Given the description of an element on the screen output the (x, y) to click on. 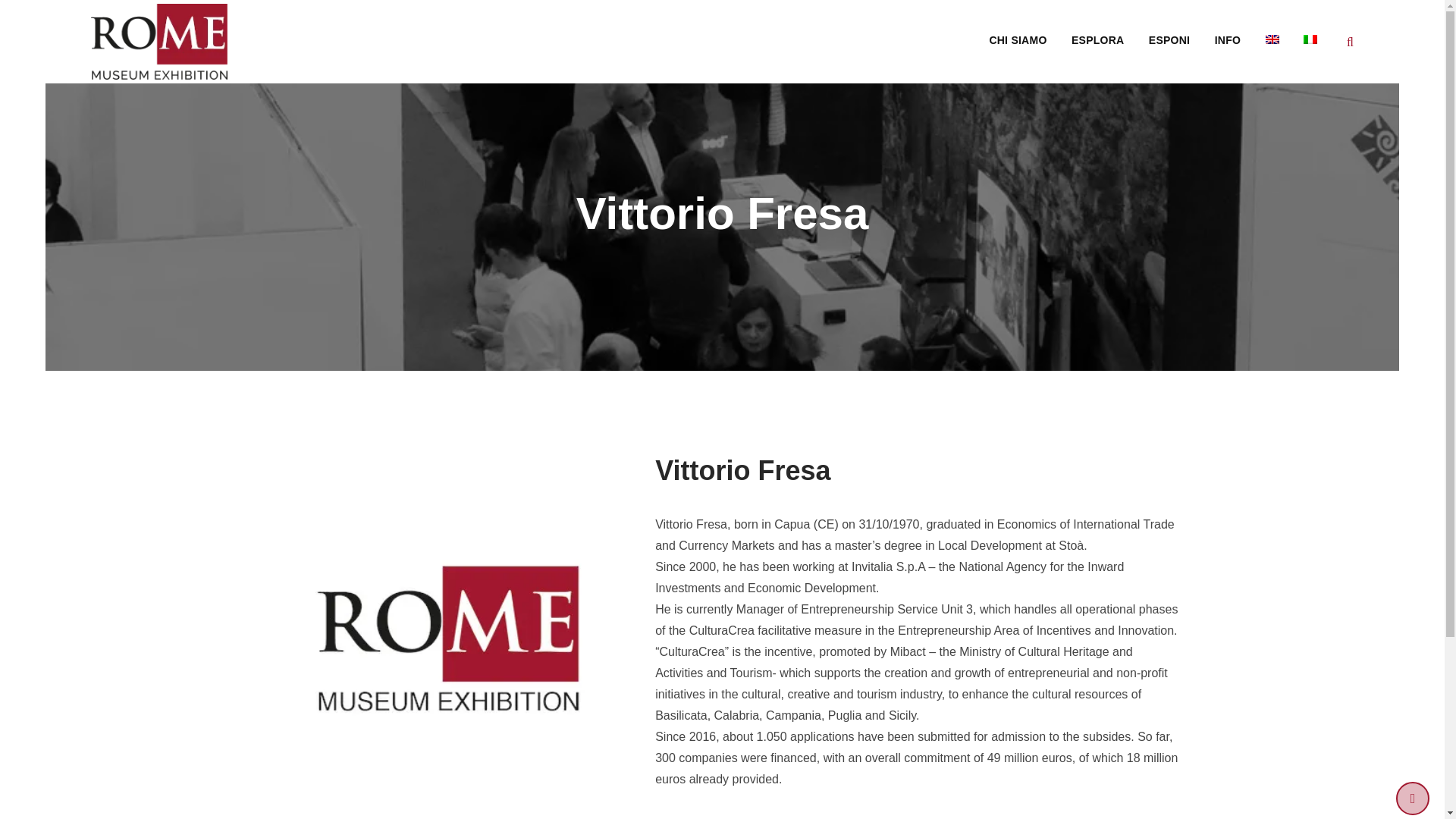
ESPLORA (1097, 39)
ESPONI (1168, 39)
CHI SIAMO (1017, 39)
